Given the description of an element on the screen output the (x, y) to click on. 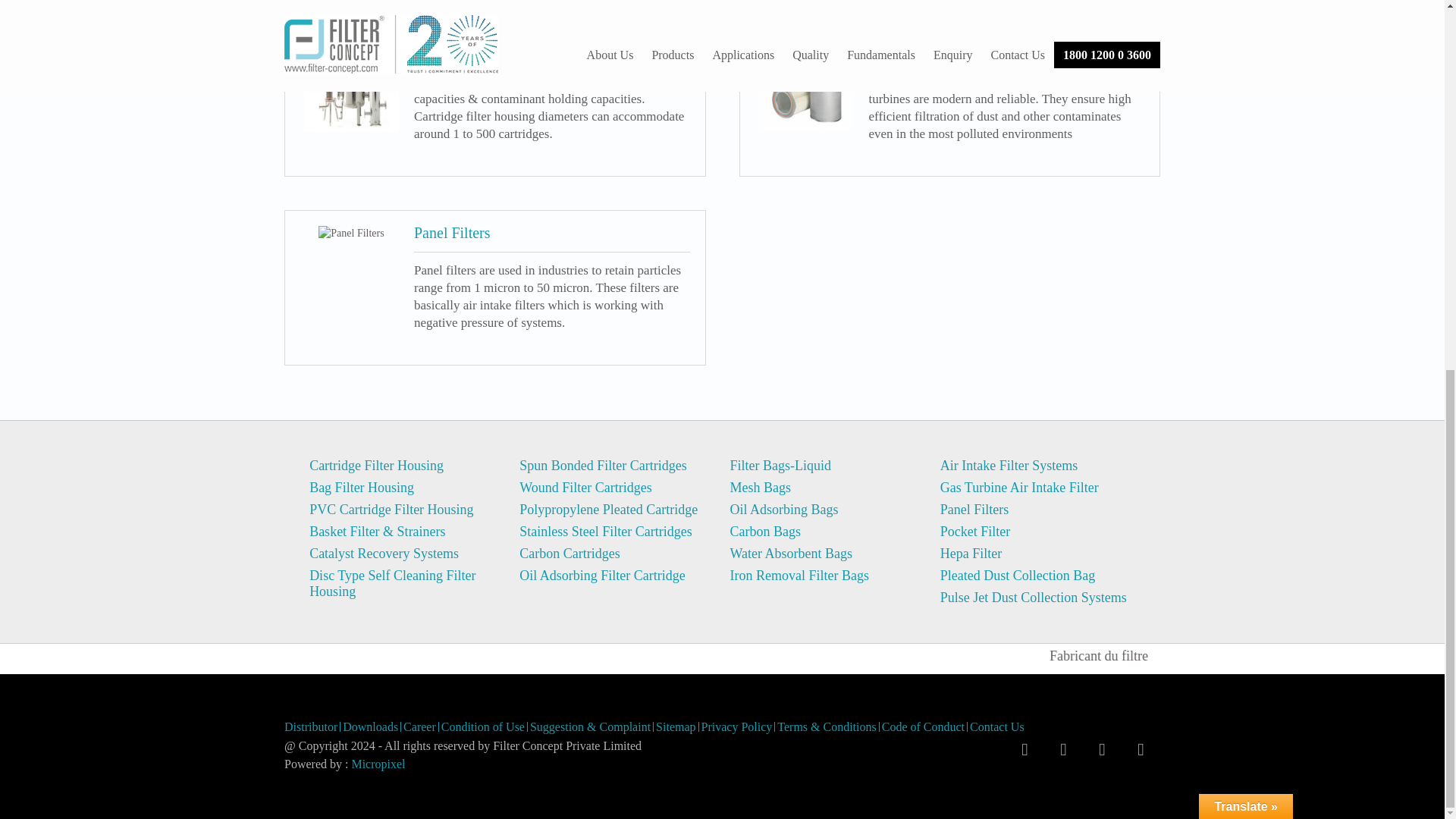
Gas Turbine Air Intake Filter (805, 83)
Facebook (1024, 750)
Linkedin (1140, 750)
Cartridge Filter Housing (351, 83)
Twitter (1063, 750)
Panel Filters (351, 233)
Instagram (1102, 750)
